Given the description of an element on the screen output the (x, y) to click on. 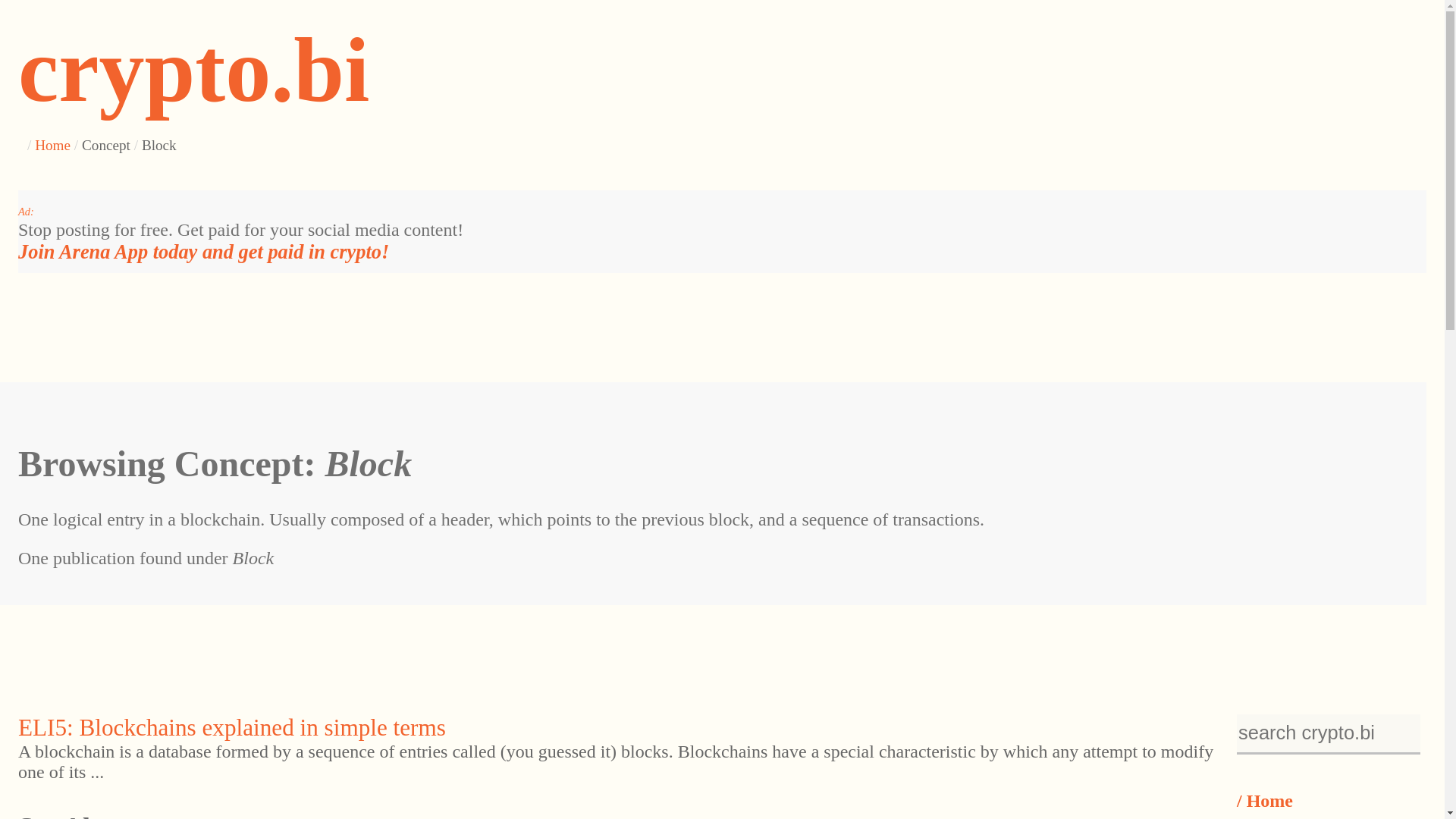
ELI5: Blockchains explained in simple terms (231, 727)
crypto.bi (193, 69)
Join Arena App today and get paid in crypto! (202, 251)
Home (51, 145)
